Given the description of an element on the screen output the (x, y) to click on. 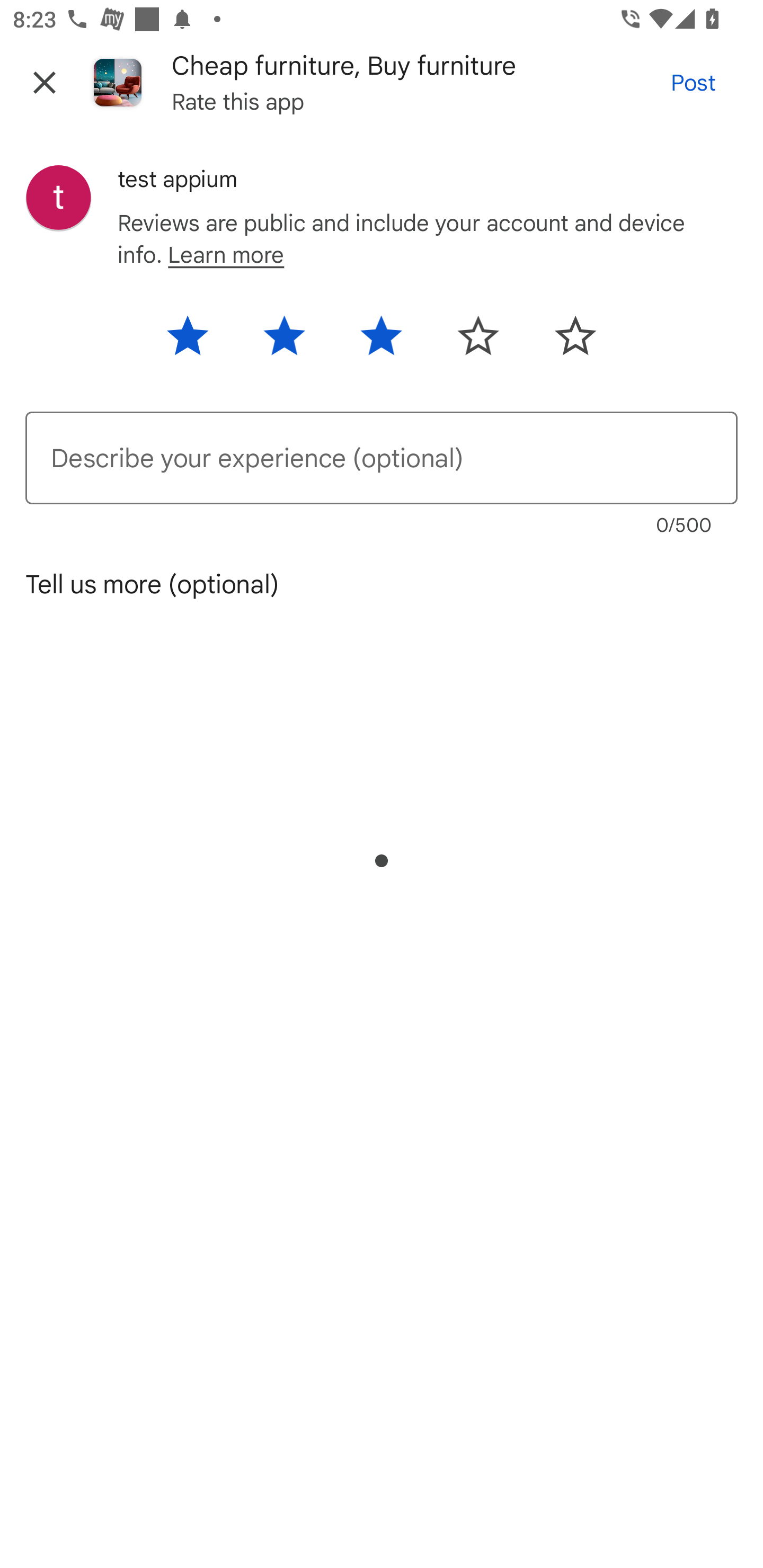
Close (44, 82)
Post (692, 81)
First star selected (198, 341)
Second star selected (283, 341)
Third star selected (380, 341)
Fourth star unselected (477, 341)
Fifth star unselected (563, 341)
Describe your experience (optional) (381, 457)
